Given the description of an element on the screen output the (x, y) to click on. 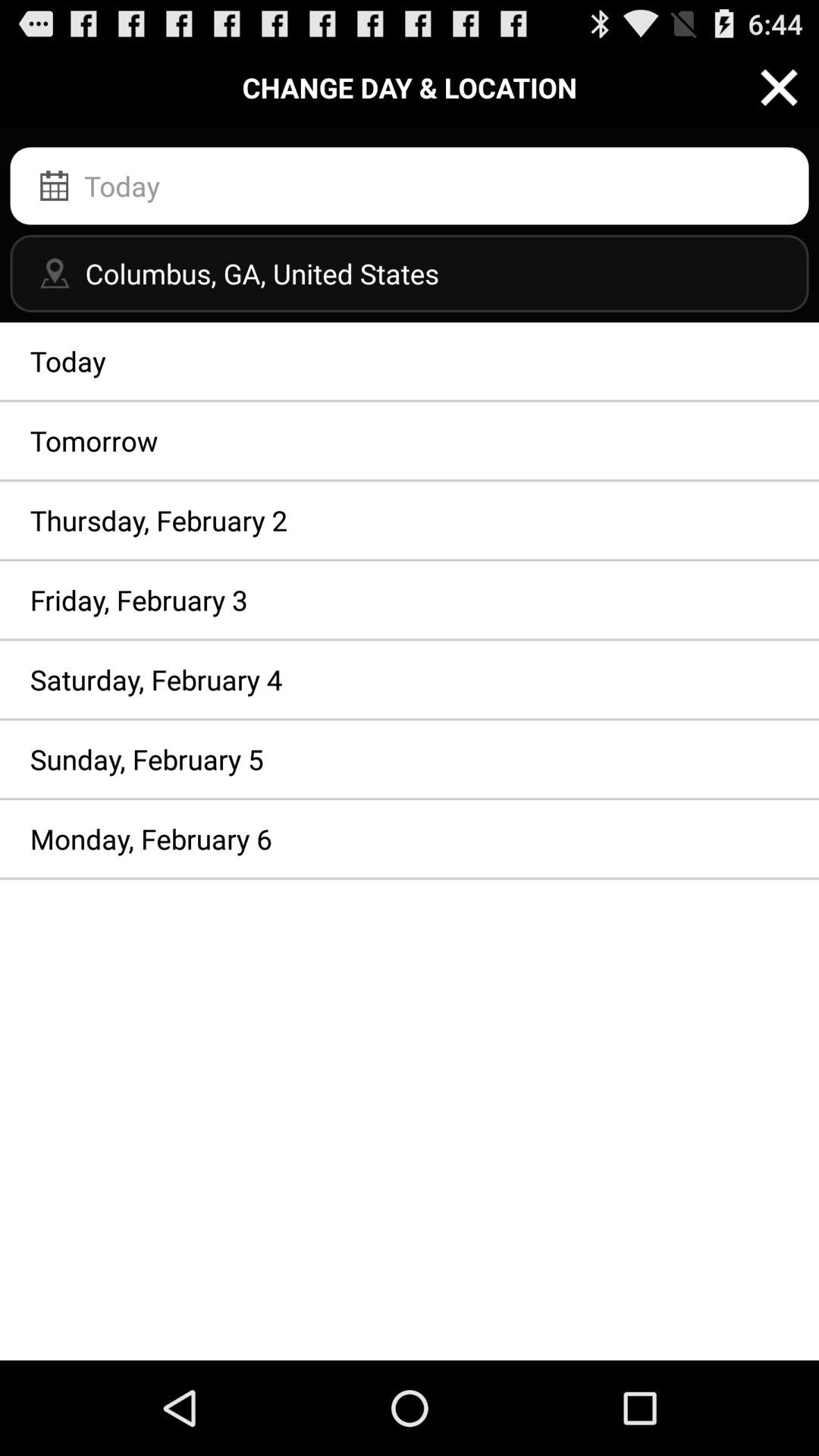
launch the icon above the thursday, february 2 (409, 440)
